Given the description of an element on the screen output the (x, y) to click on. 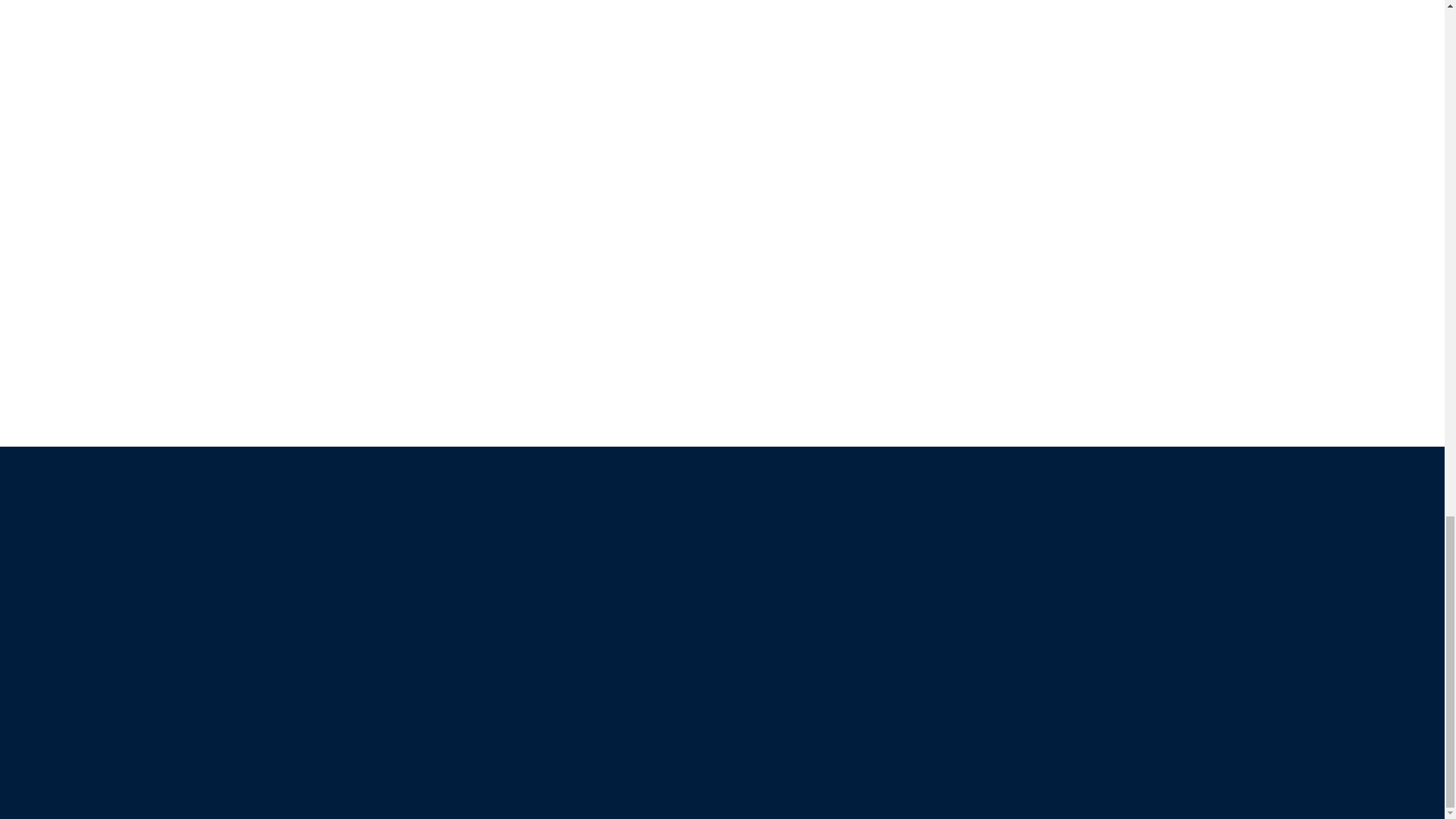
Subscribe (459, 514)
